Given the description of an element on the screen output the (x, y) to click on. 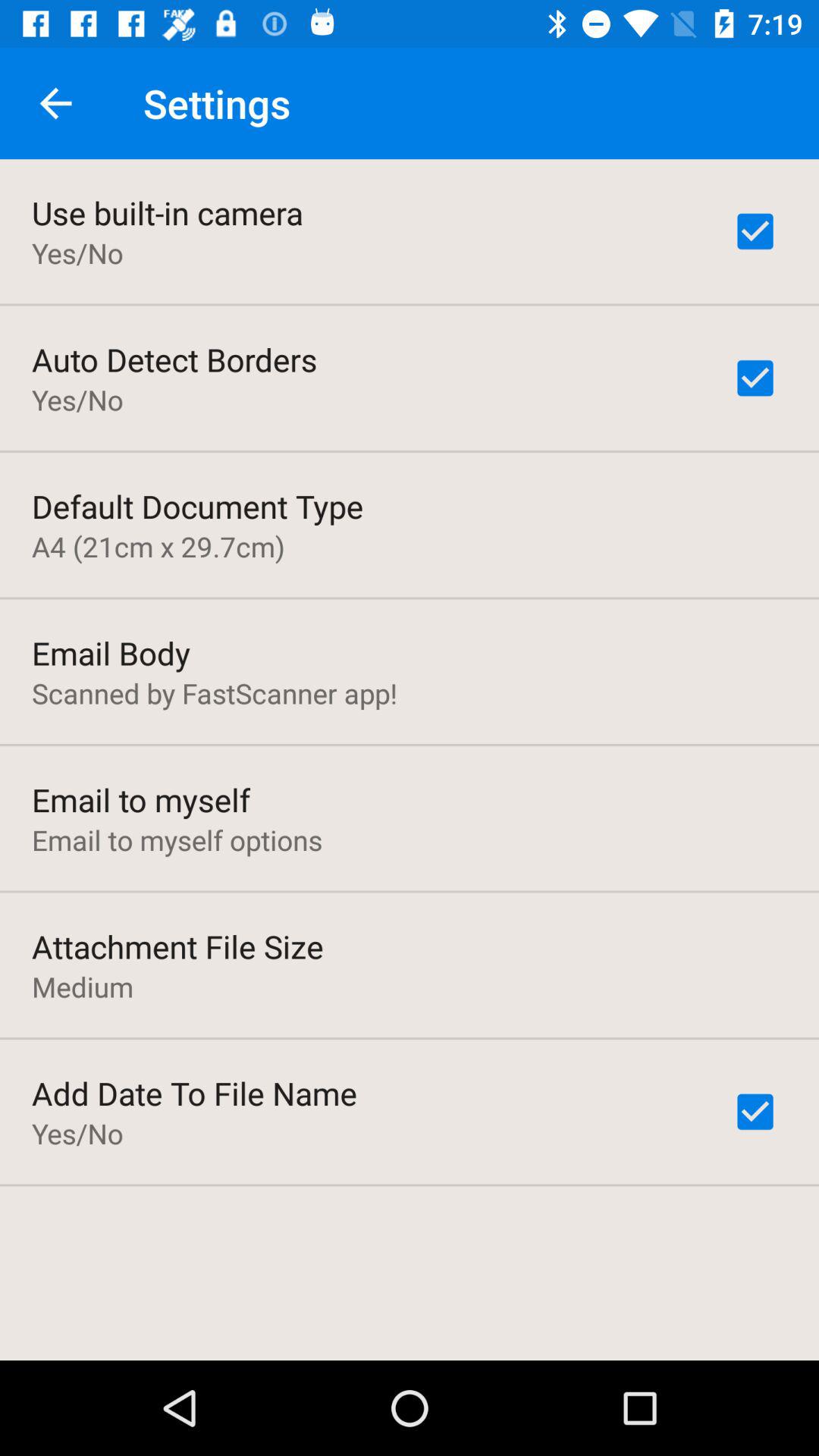
choose item below attachment file size item (82, 986)
